Given the description of an element on the screen output the (x, y) to click on. 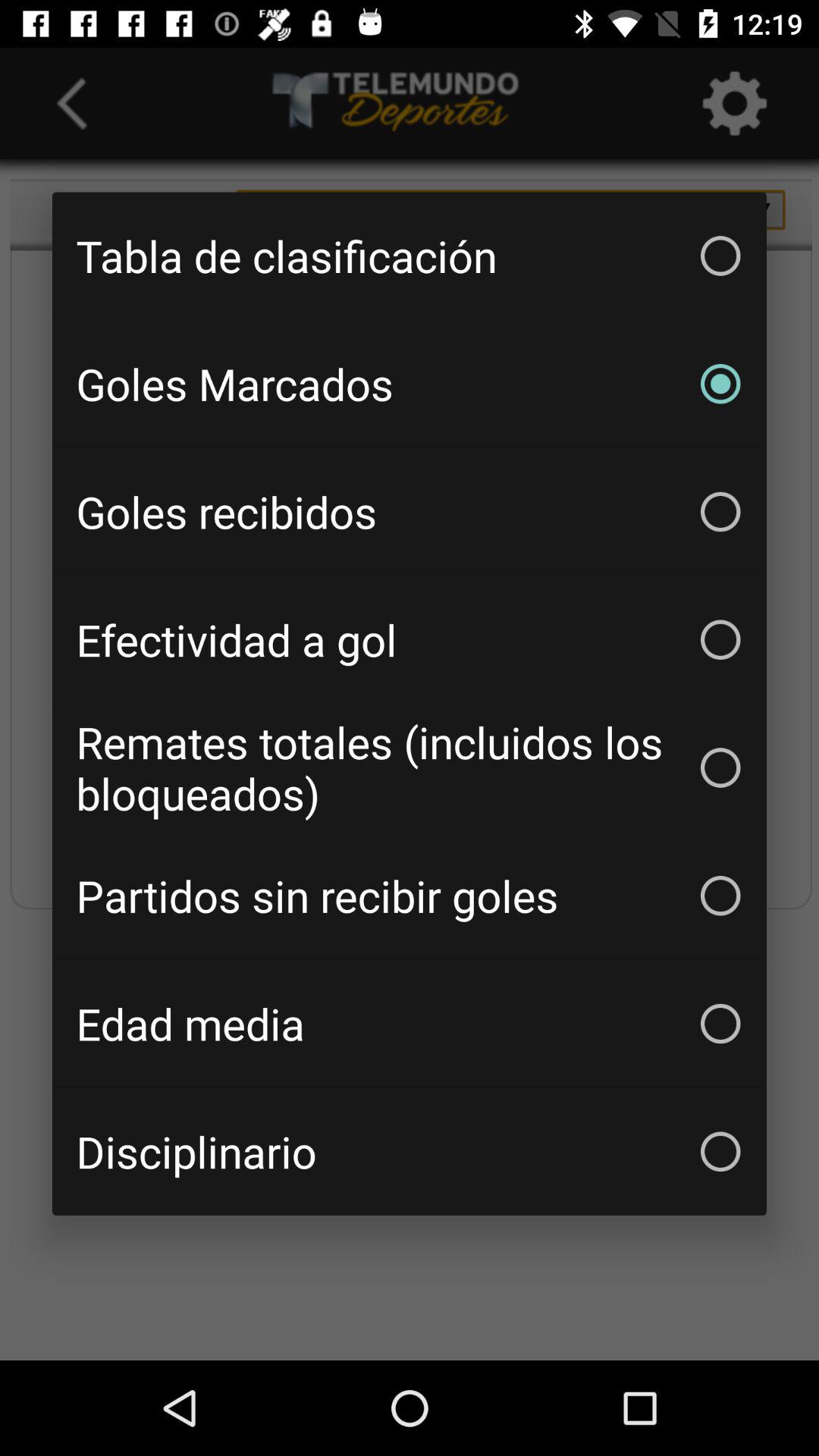
choose item below the goles recibidos item (409, 639)
